Given the description of an element on the screen output the (x, y) to click on. 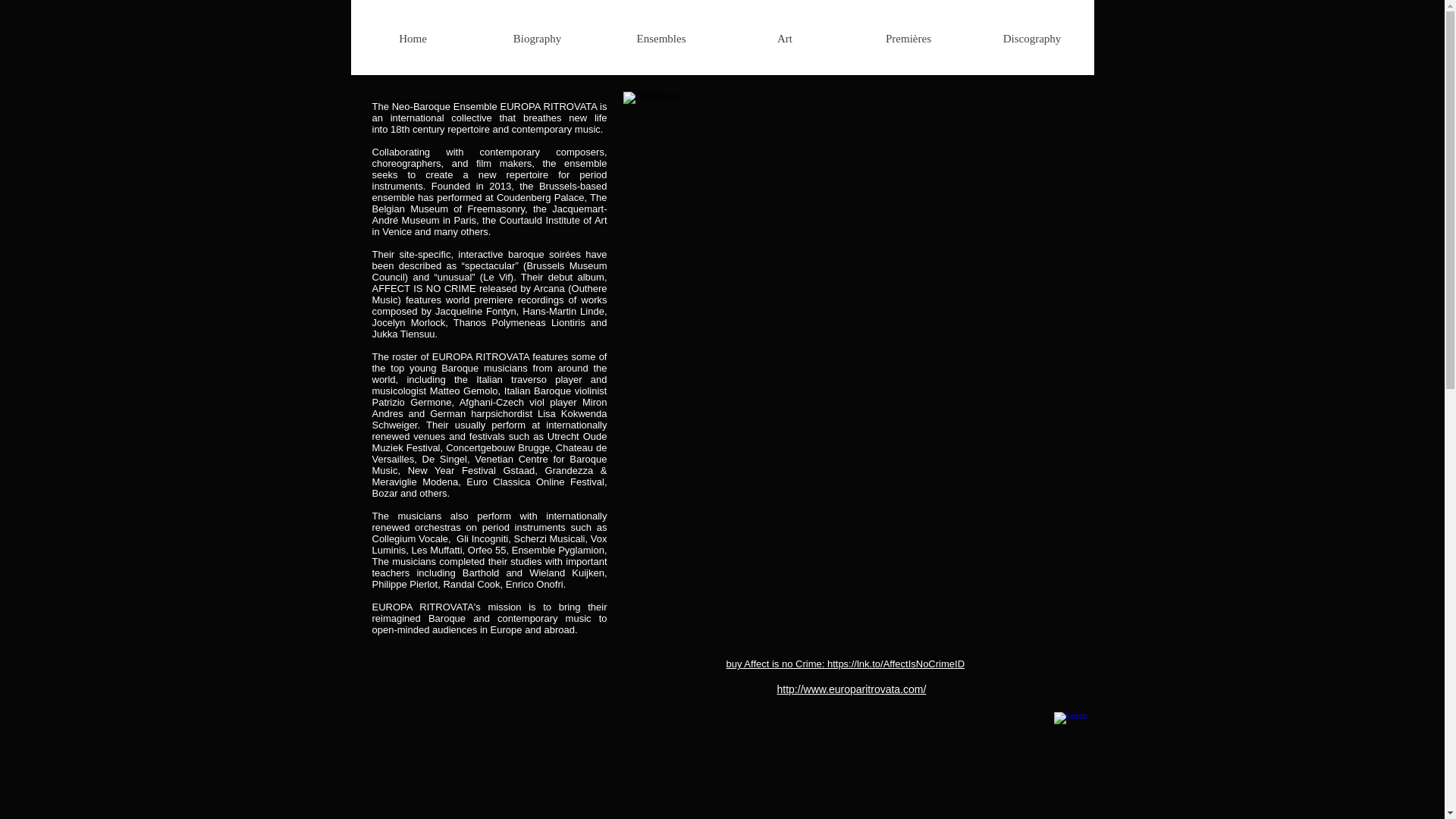
Discography (1032, 31)
Biography (536, 31)
Art (785, 31)
Ensembles (660, 31)
Home (412, 31)
